Given the description of an element on the screen output the (x, y) to click on. 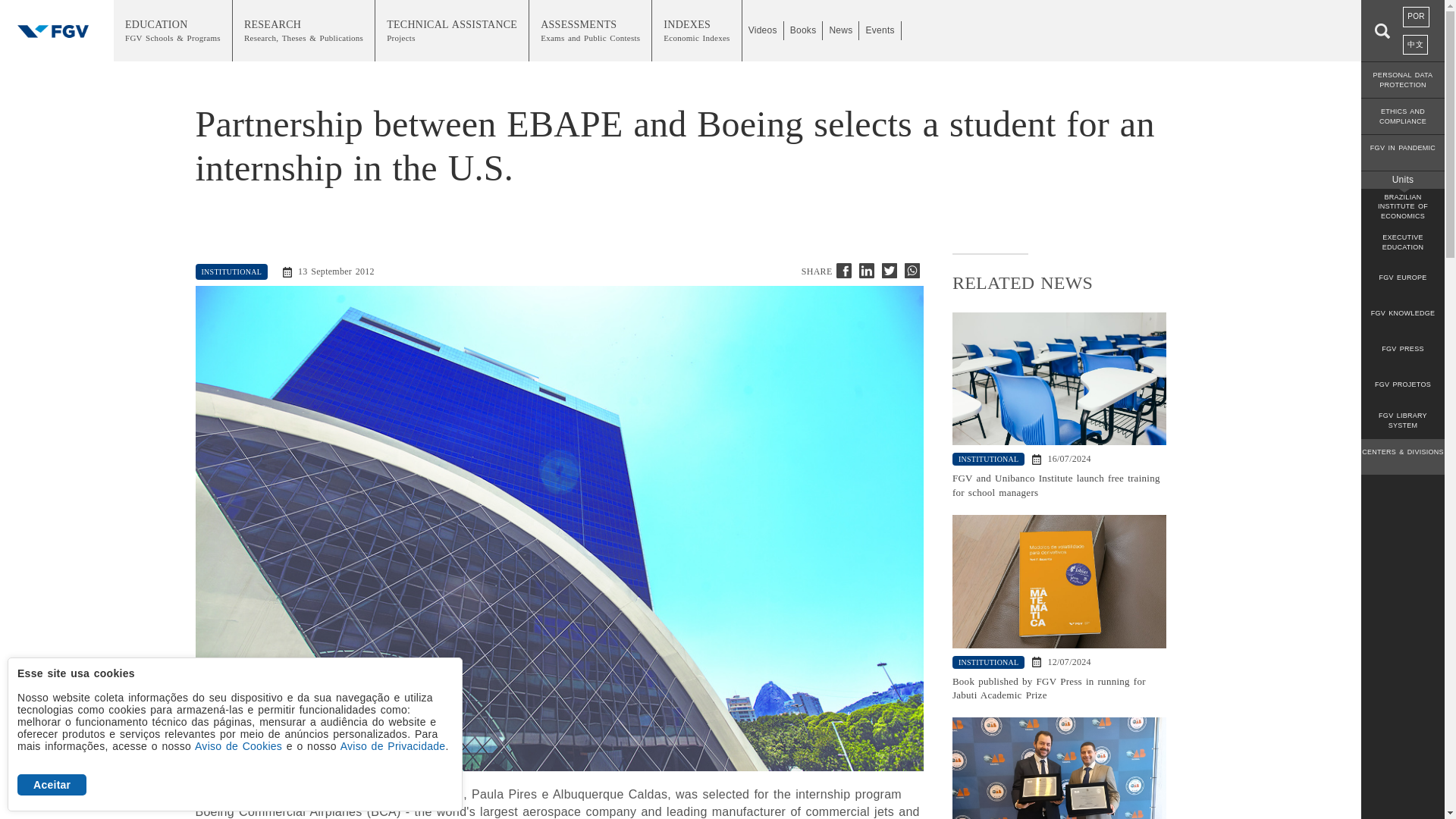
EDUCATION (172, 30)
Portal FGV (56, 30)
